Given the description of an element on the screen output the (x, y) to click on. 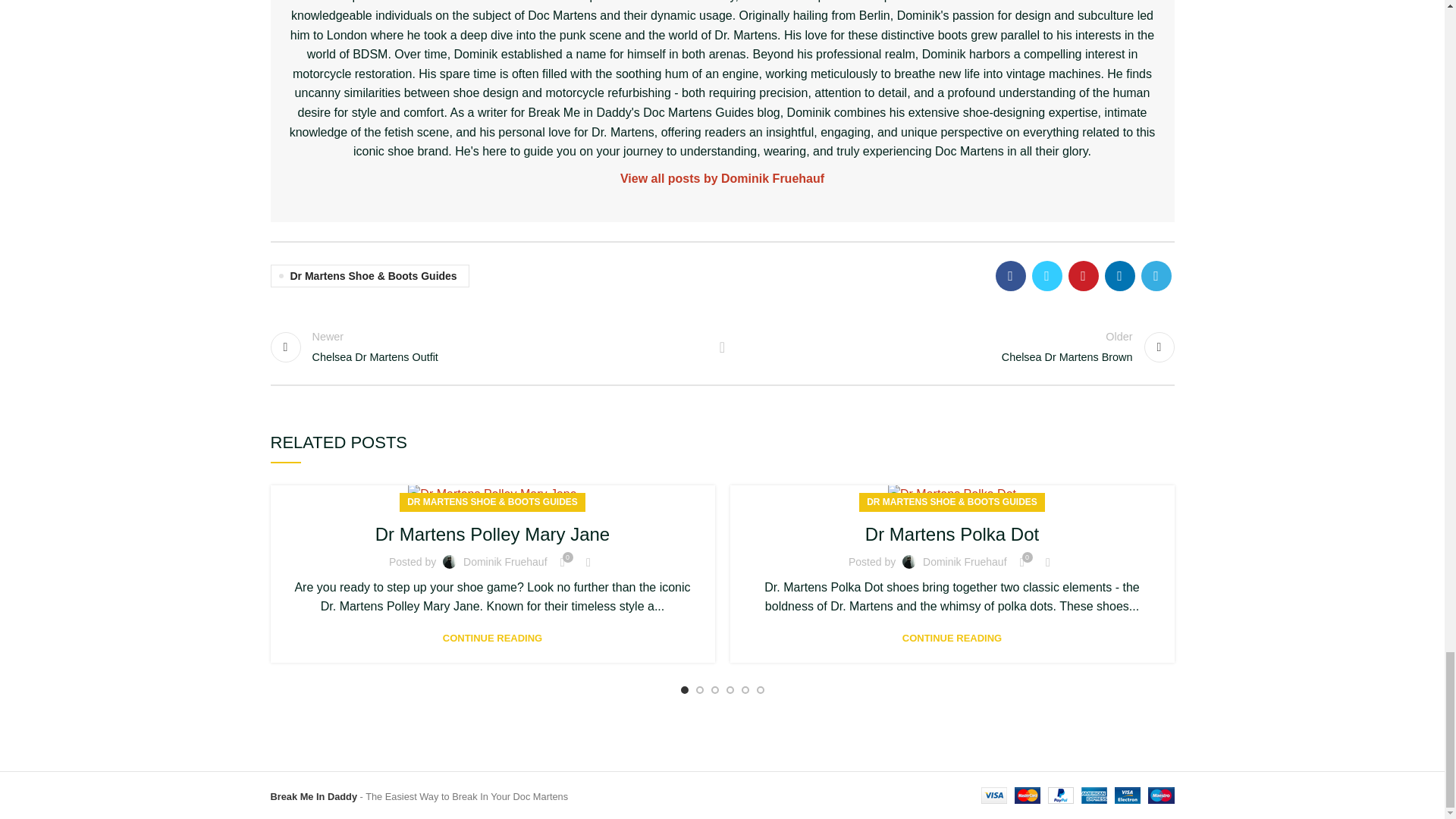
Dr Martens Polka Dot (952, 494)
Back to list (488, 346)
Dr Martens Polley Mary Jane (721, 347)
Dr Martens Polley Mary Jane (491, 494)
View all posts by Dominik Fruehauf (492, 534)
Dominik Fruehauf (722, 178)
